Given the description of an element on the screen output the (x, y) to click on. 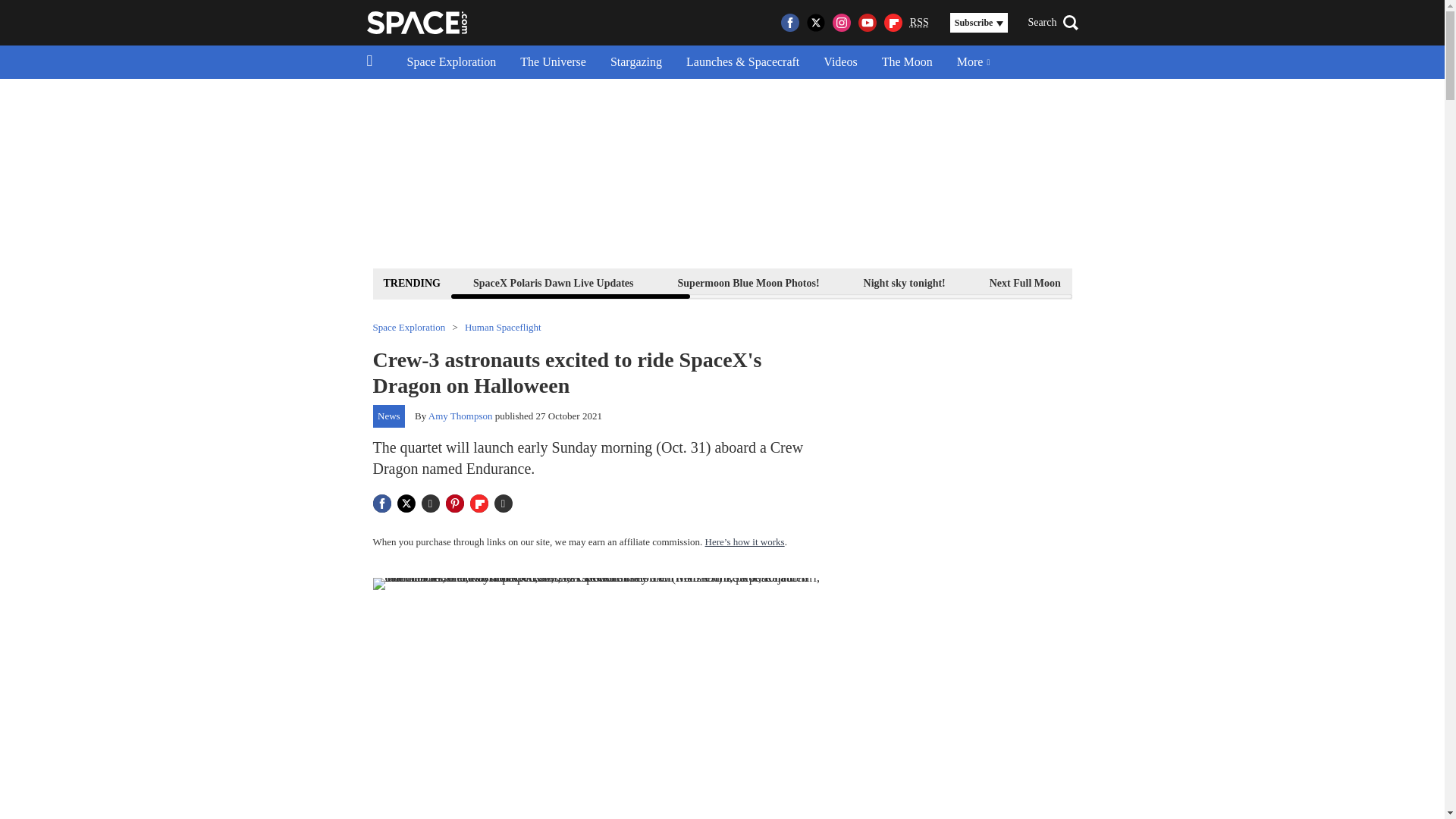
Stargazing (636, 61)
Videos (839, 61)
Best Binoculars (1253, 282)
Next Full Moon (1024, 282)
The Moon (906, 61)
Really Simple Syndication (919, 21)
SpaceX Polaris Dawn Live Updates (553, 282)
Supermoon Blue Moon Photos! (748, 282)
Best Star Projectors (1378, 282)
Night sky tonight! (904, 282)
